Given the description of an element on the screen output the (x, y) to click on. 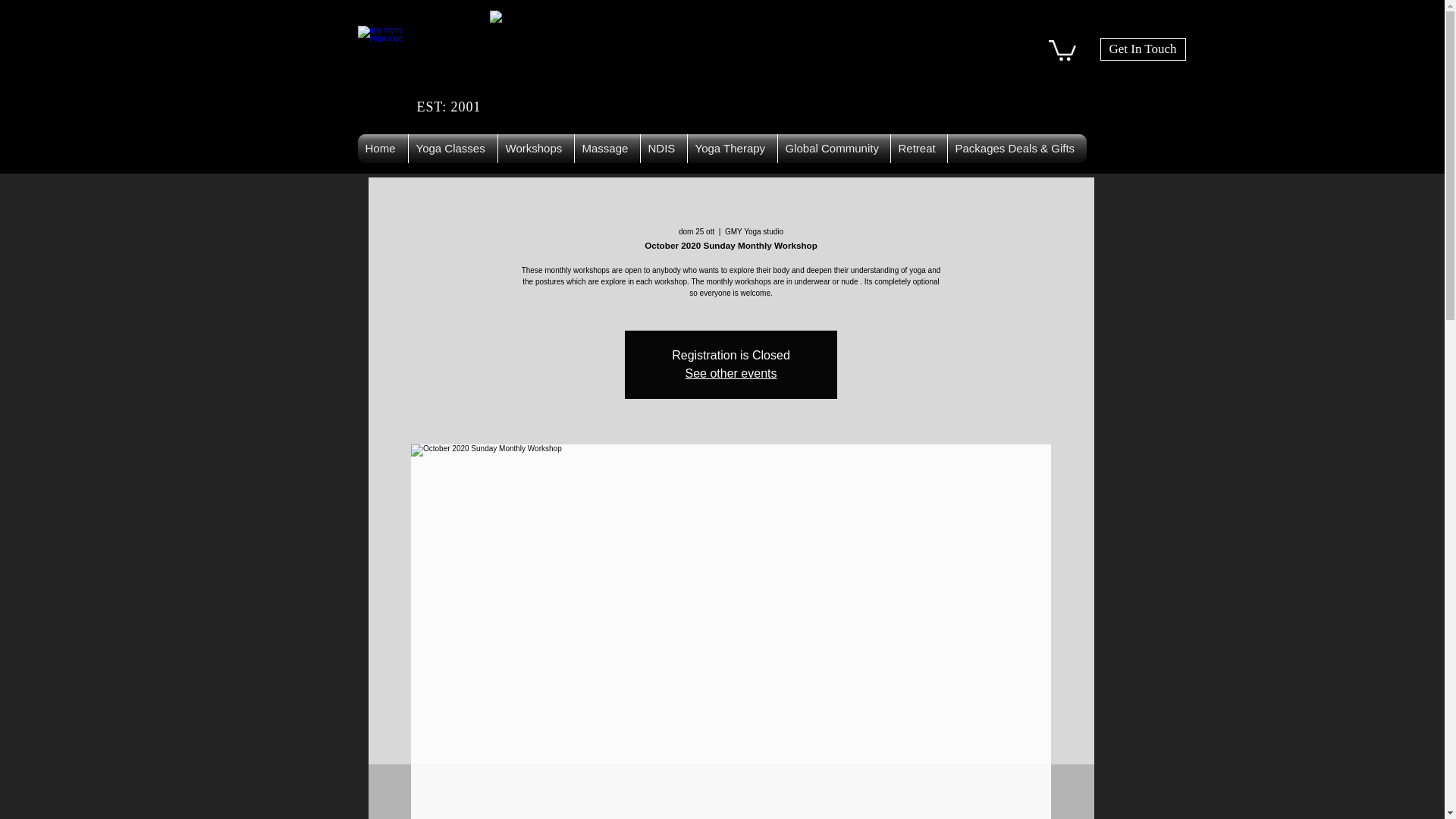
www.gaymensyoga.com.au (383, 50)
Workshops (535, 148)
www.gaymensyoga.com.au (527, 48)
Yoga Therapy (731, 148)
Get In Touch (1142, 48)
Home (382, 148)
Massage (607, 148)
Yoga Classes (451, 148)
NDIS (662, 148)
See other events (731, 373)
Global Community (833, 148)
Retreat (917, 148)
